Given the description of an element on the screen output the (x, y) to click on. 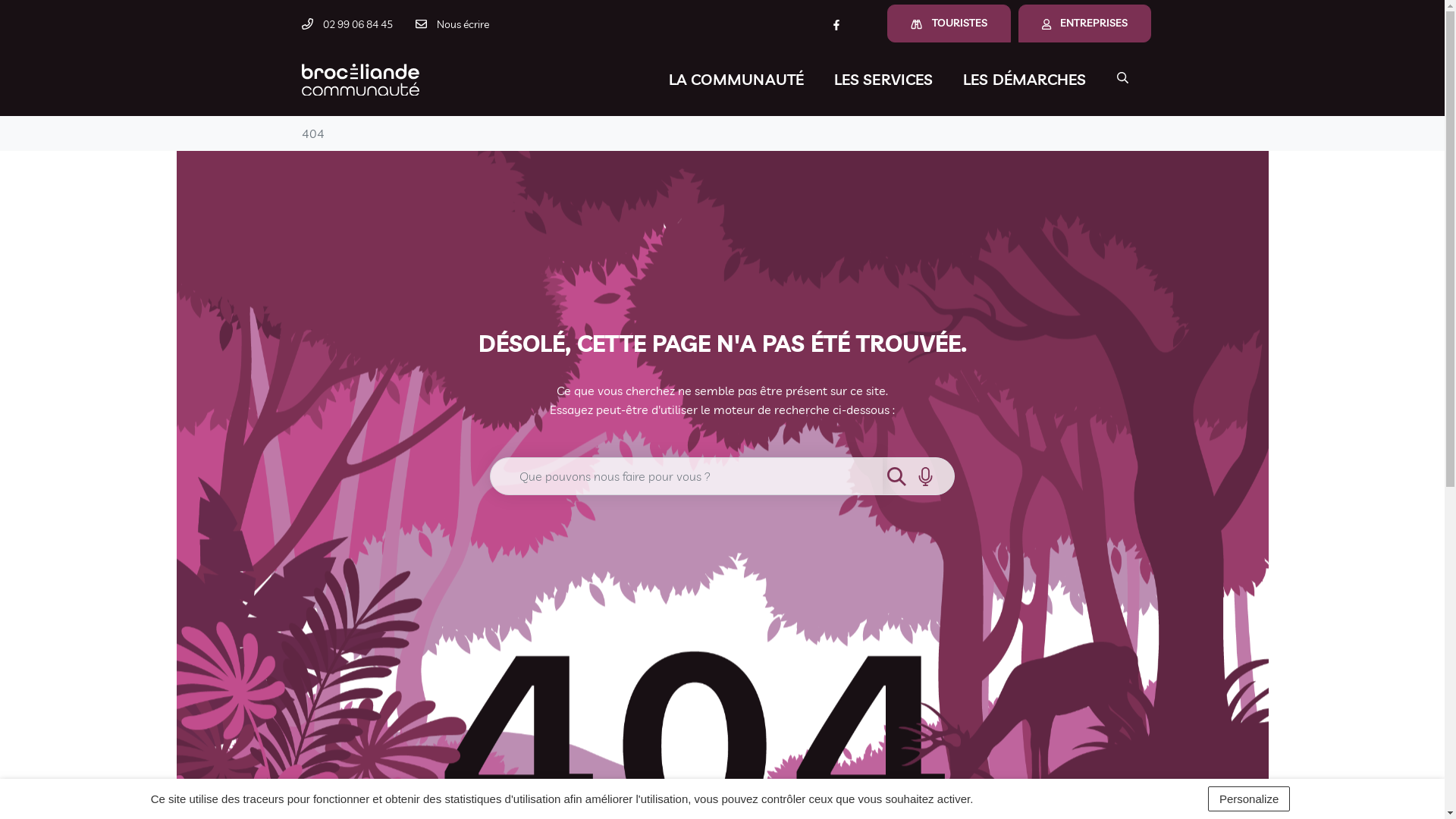
RECHERCHE Element type: text (896, 476)
AFFICHER LA RECHERCHE Element type: text (1121, 77)
Personalize Element type: text (1248, 798)
404 Element type: text (312, 133)
TOURISTES Element type: text (948, 23)
LES SERVICES Element type: text (883, 79)
ENTREPRISES Element type: text (1084, 23)
OK, accept all Element type: text (1039, 798)
Deny all cookies Element type: text (1147, 798)
Recherche : Element type: hover (686, 476)
Lien vers le compte Facebook Element type: text (836, 23)
02 99 06 84 45 Element type: text (346, 23)
RECHERCHE VOCALE Element type: text (925, 476)
